Given the description of an element on the screen output the (x, y) to click on. 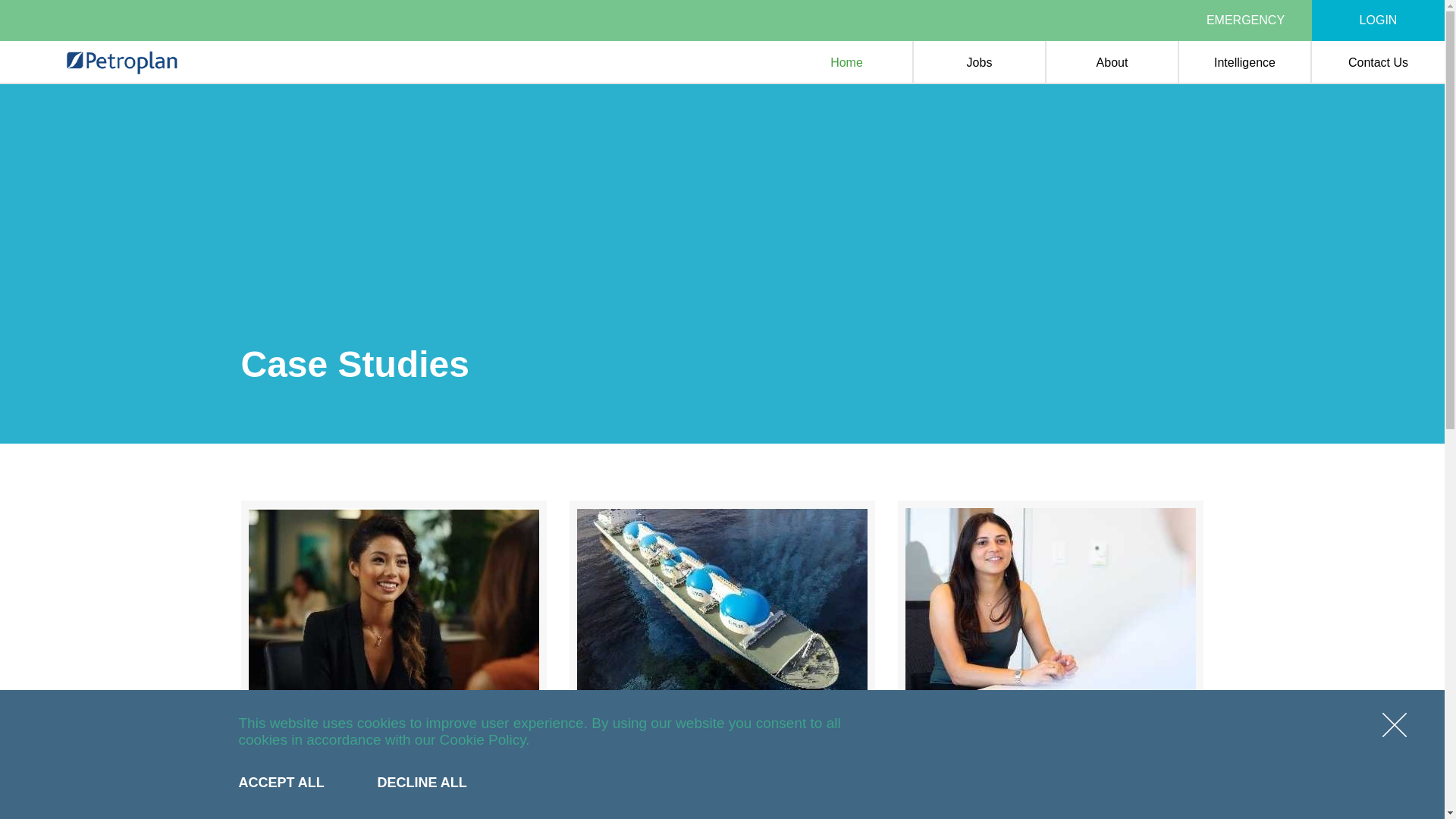
LOGIN (1378, 20)
Home (846, 62)
About (1112, 62)
Jobs (979, 62)
EMERGENCY (1245, 20)
